Given the description of an element on the screen output the (x, y) to click on. 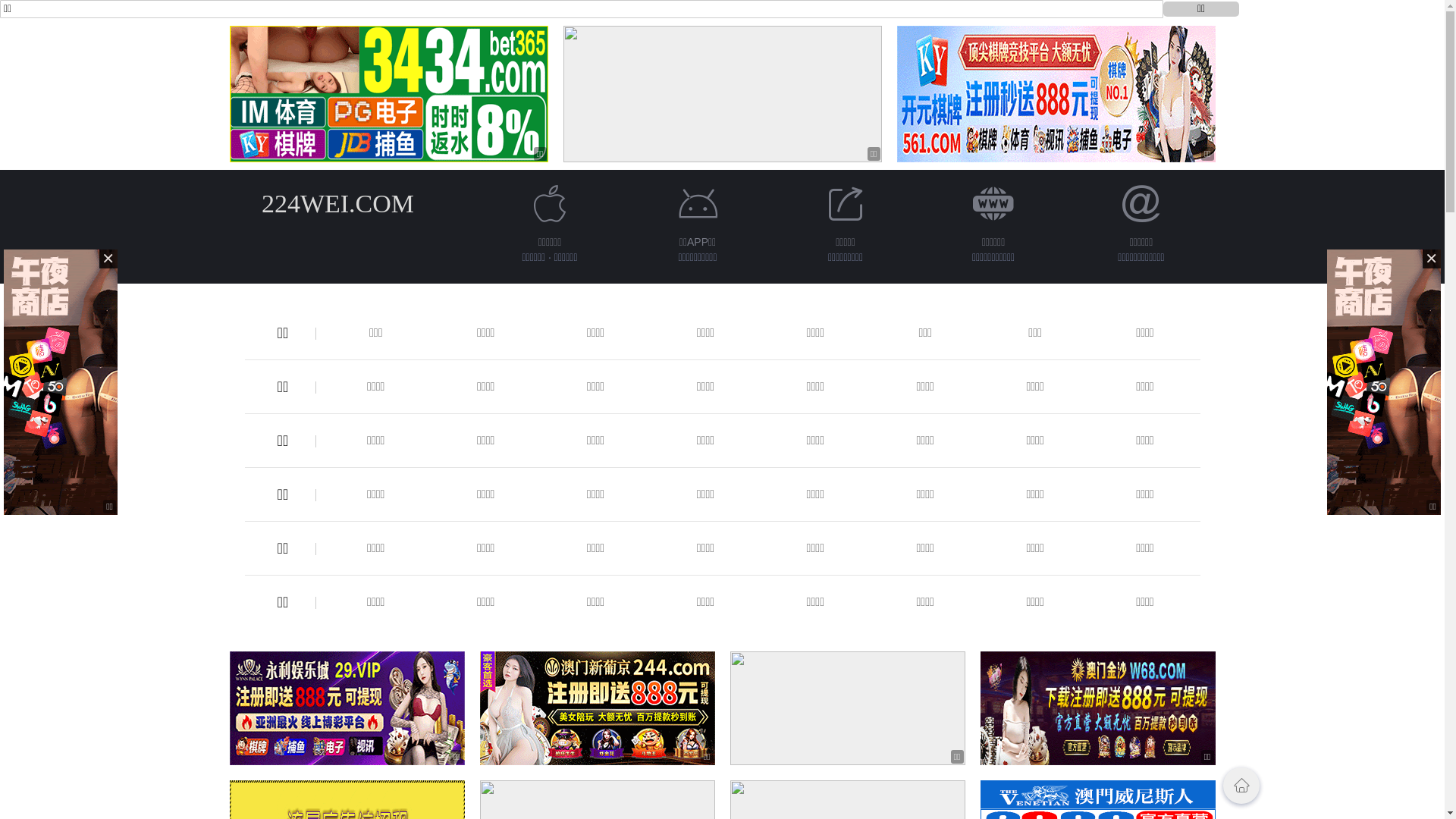
224WEI.COM Element type: text (337, 203)
